Given the description of an element on the screen output the (x, y) to click on. 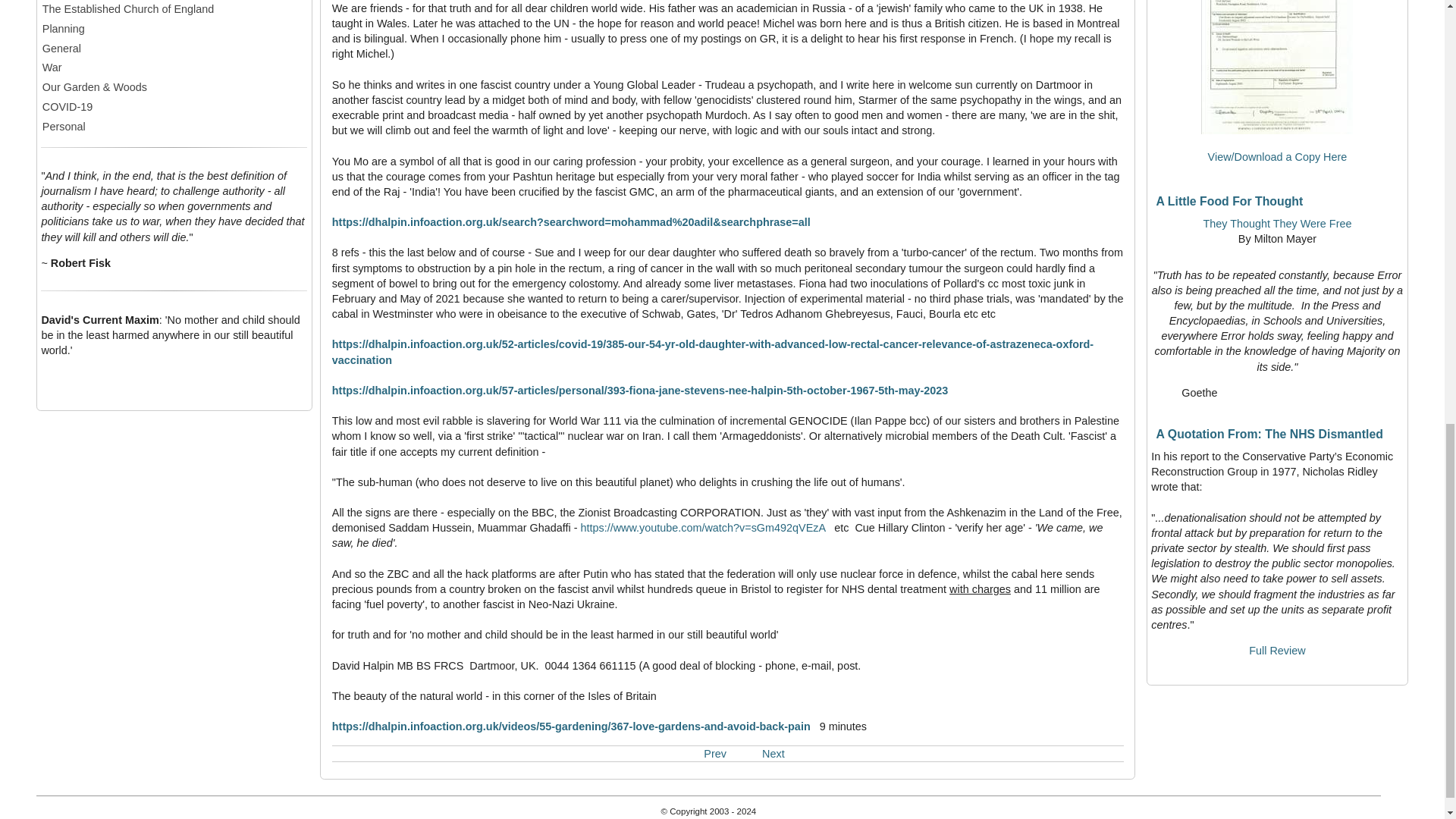
The Established Church of England (174, 8)
D Kelly Death Certificate (1276, 67)
War (174, 67)
General (174, 48)
Planning (174, 28)
